Given the description of an element on the screen output the (x, y) to click on. 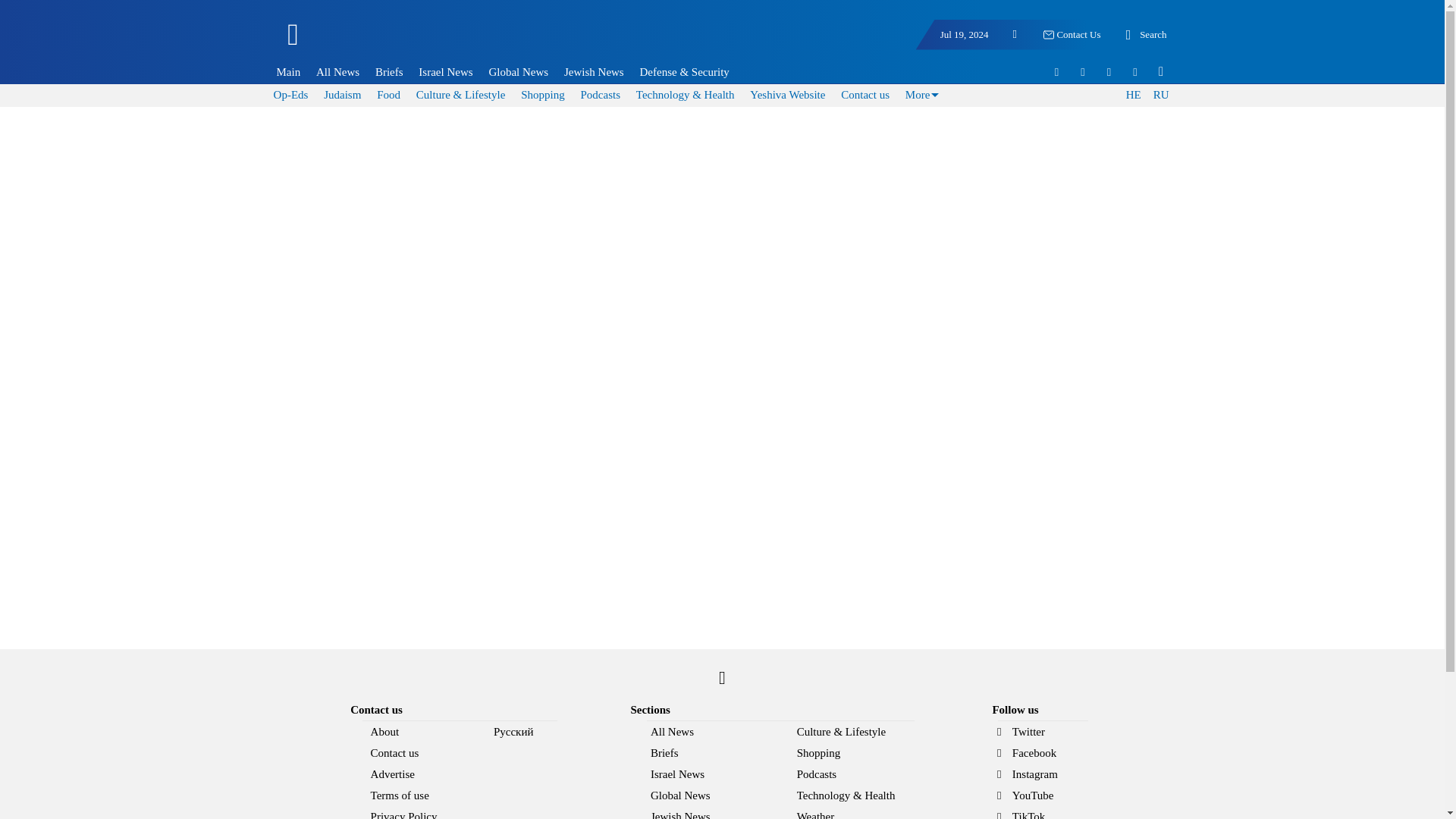
Shopping (542, 94)
Israel News (445, 71)
Yeshiva Website (787, 94)
Search (1143, 34)
Podcasts (599, 94)
Judaism (342, 94)
HE (1133, 95)
Contact Us (1071, 34)
Jewish News (593, 71)
Global News (518, 71)
Jul 19, 2024 (964, 34)
All News (337, 71)
Briefs (389, 71)
Op-Eds (290, 94)
Israel National News - Arutz Sheva (373, 40)
